Given the description of an element on the screen output the (x, y) to click on. 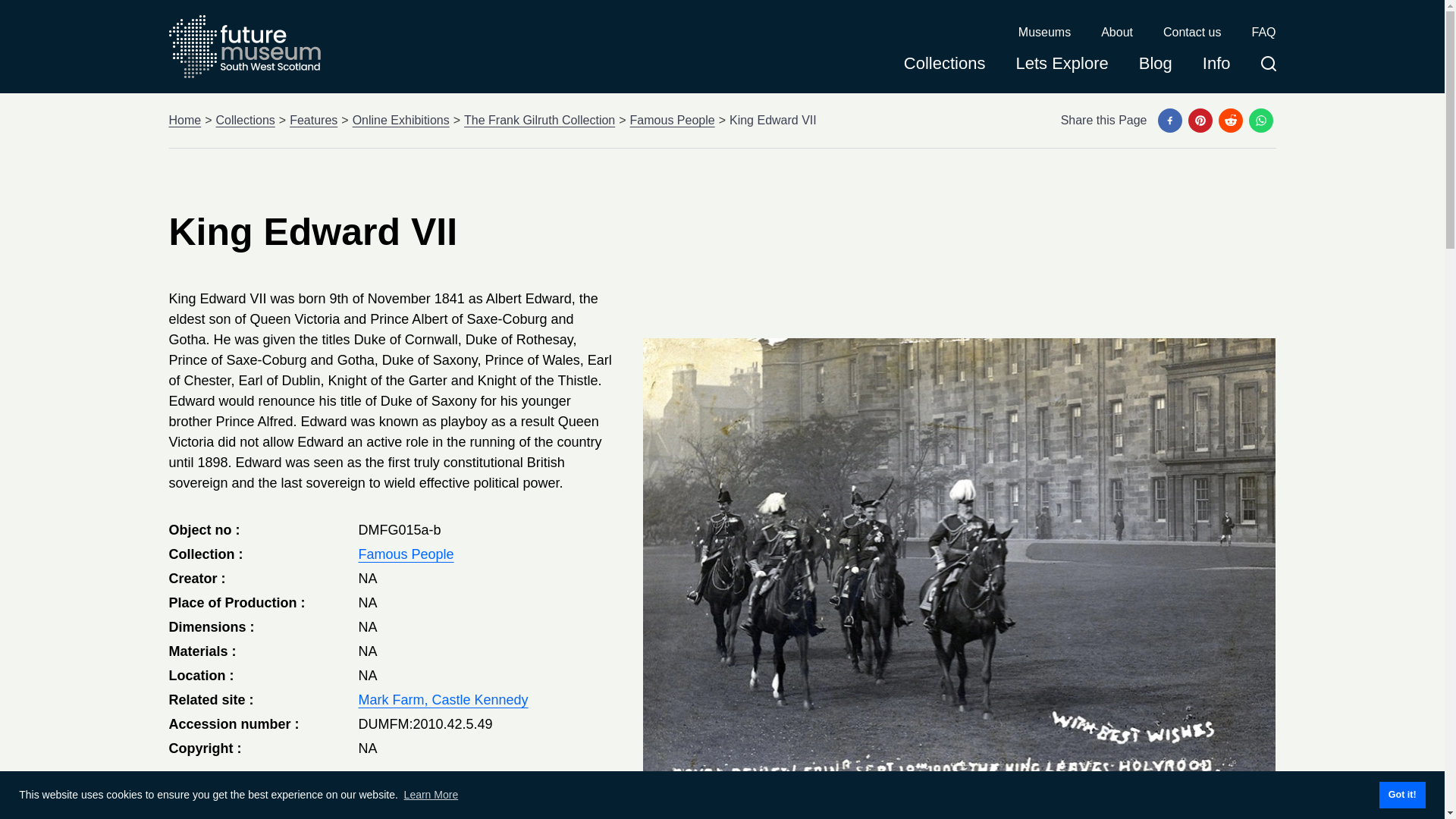
Got it! (1401, 795)
FAQ (1262, 32)
Famous People (672, 119)
Online Exhibitions (400, 119)
Famous People (405, 554)
Features (313, 119)
About (1116, 32)
Museums (1043, 32)
Info (1216, 68)
Collections (944, 68)
Collections (245, 119)
Blog (1155, 68)
Lets Explore (1061, 68)
The Frank Gilruth Collection (539, 119)
Contact us (1192, 32)
